Given the description of an element on the screen output the (x, y) to click on. 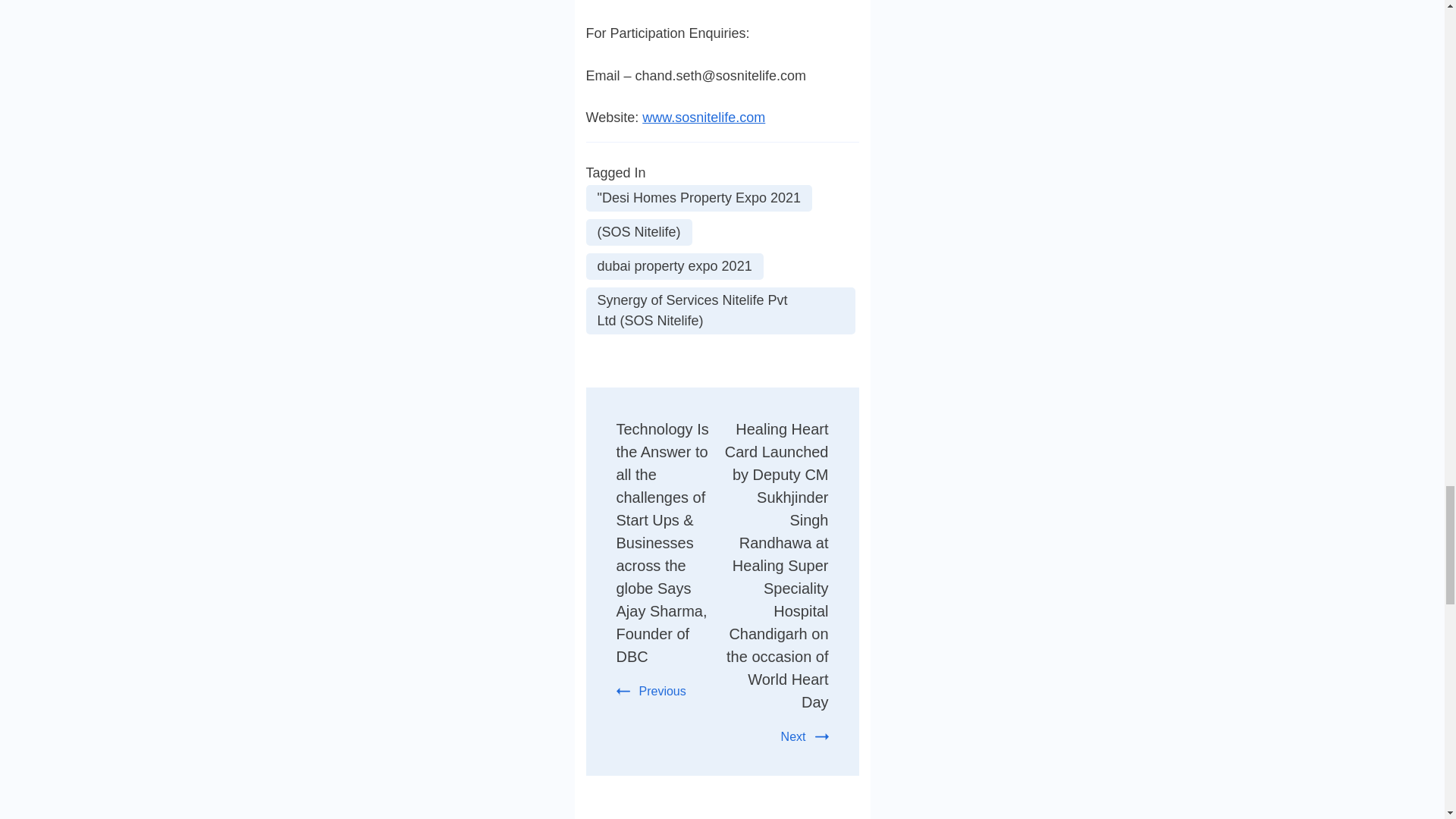
dubai property expo 2021 (673, 266)
"Desi Homes Property Expo 2021 (698, 198)
www.sosnitelife.com (703, 117)
